Given the description of an element on the screen output the (x, y) to click on. 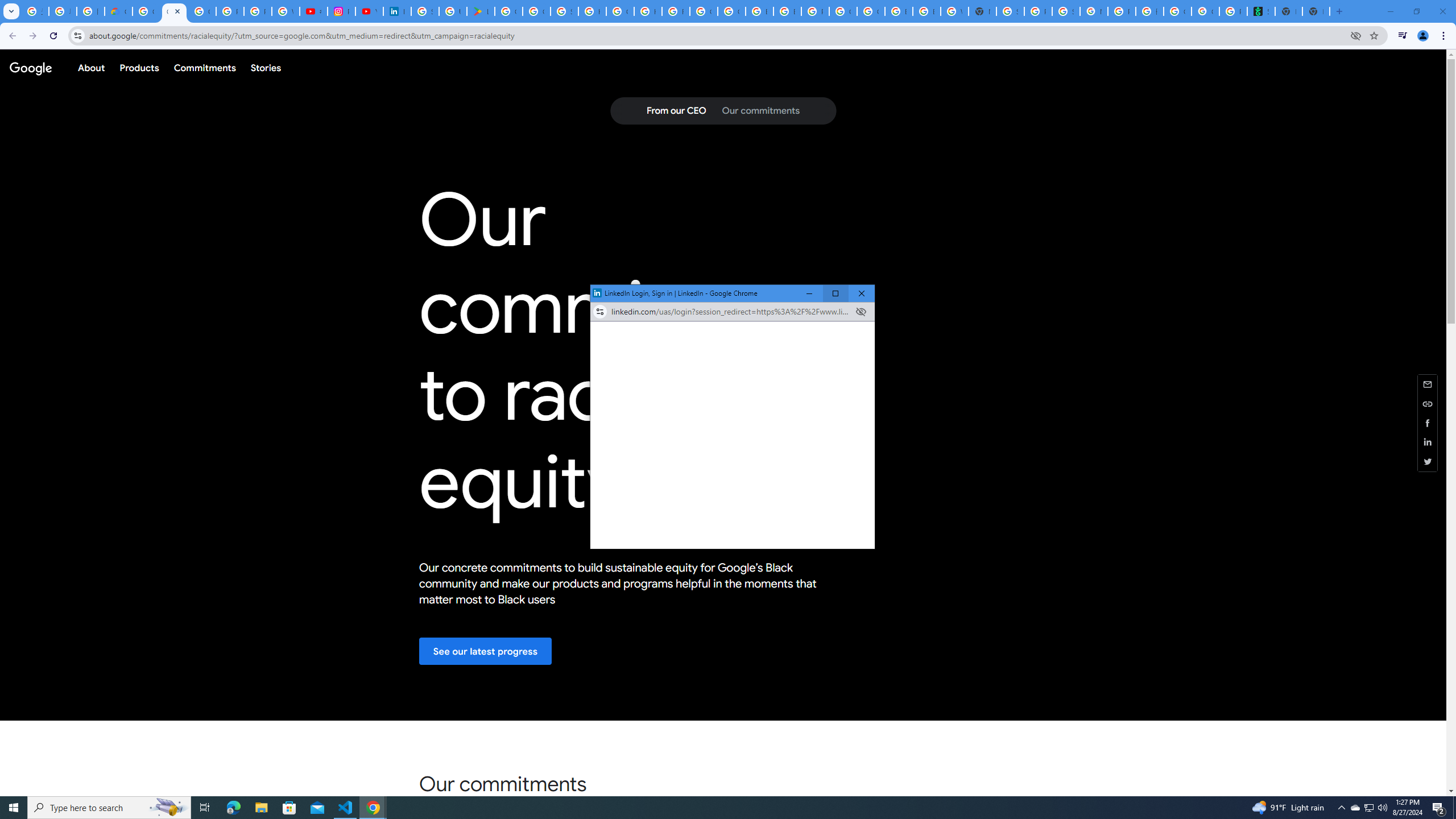
YouTube Culture & Trends - On The Rise: Handcam Videos (369, 11)
New Tab (1316, 11)
Show desktop (1454, 807)
View site information (599, 311)
Control your music, videos, and more (1402, 35)
File Explorer (261, 807)
Sign in - Google Accounts (425, 11)
#nbabasketballhighlights - YouTube (313, 11)
How do I create a new Google Account? - Google Account Help (1368, 807)
